Given the description of an element on the screen output the (x, y) to click on. 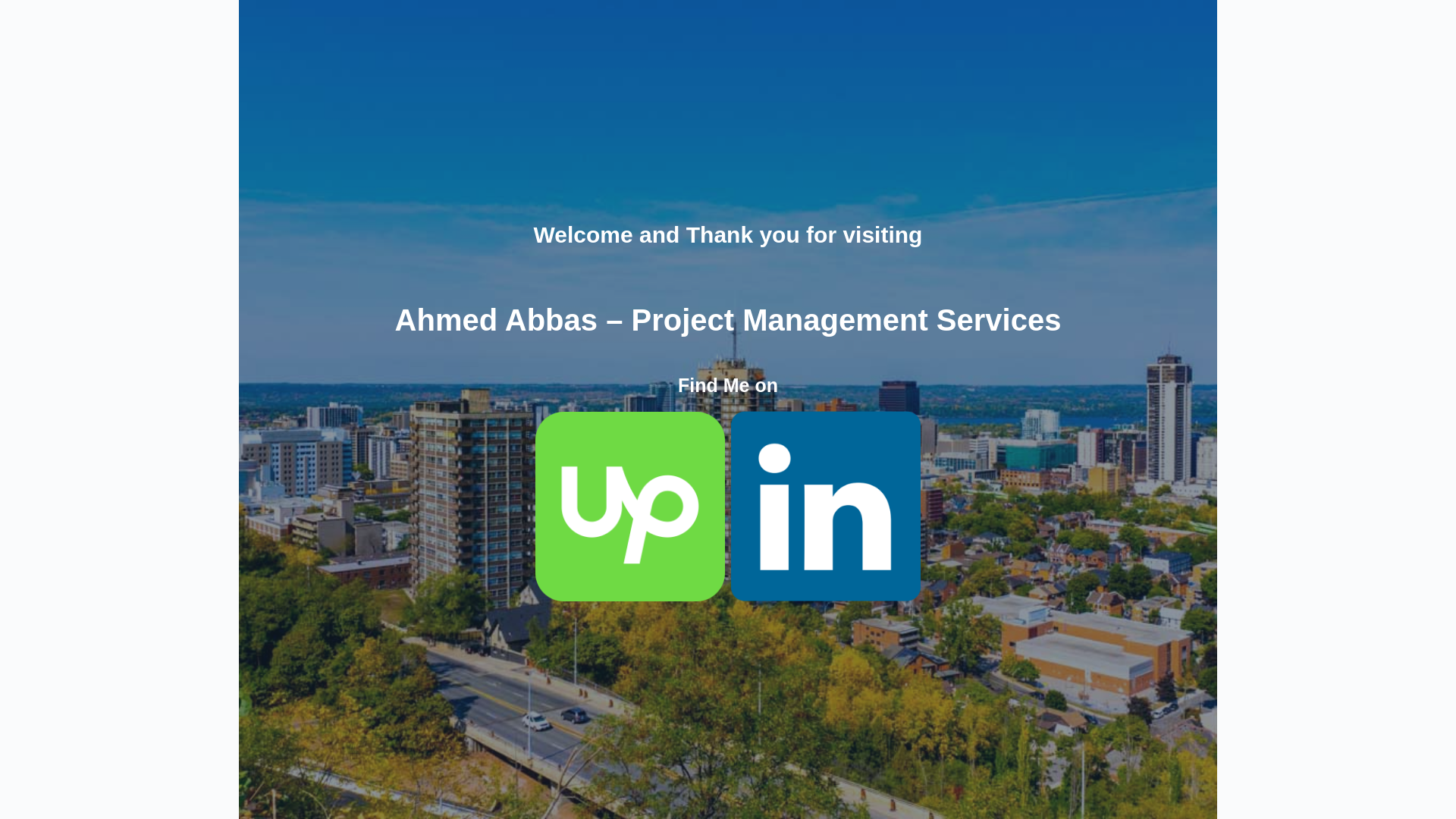
Skip to content Element type: text (15, 7)
